Given the description of an element on the screen output the (x, y) to click on. 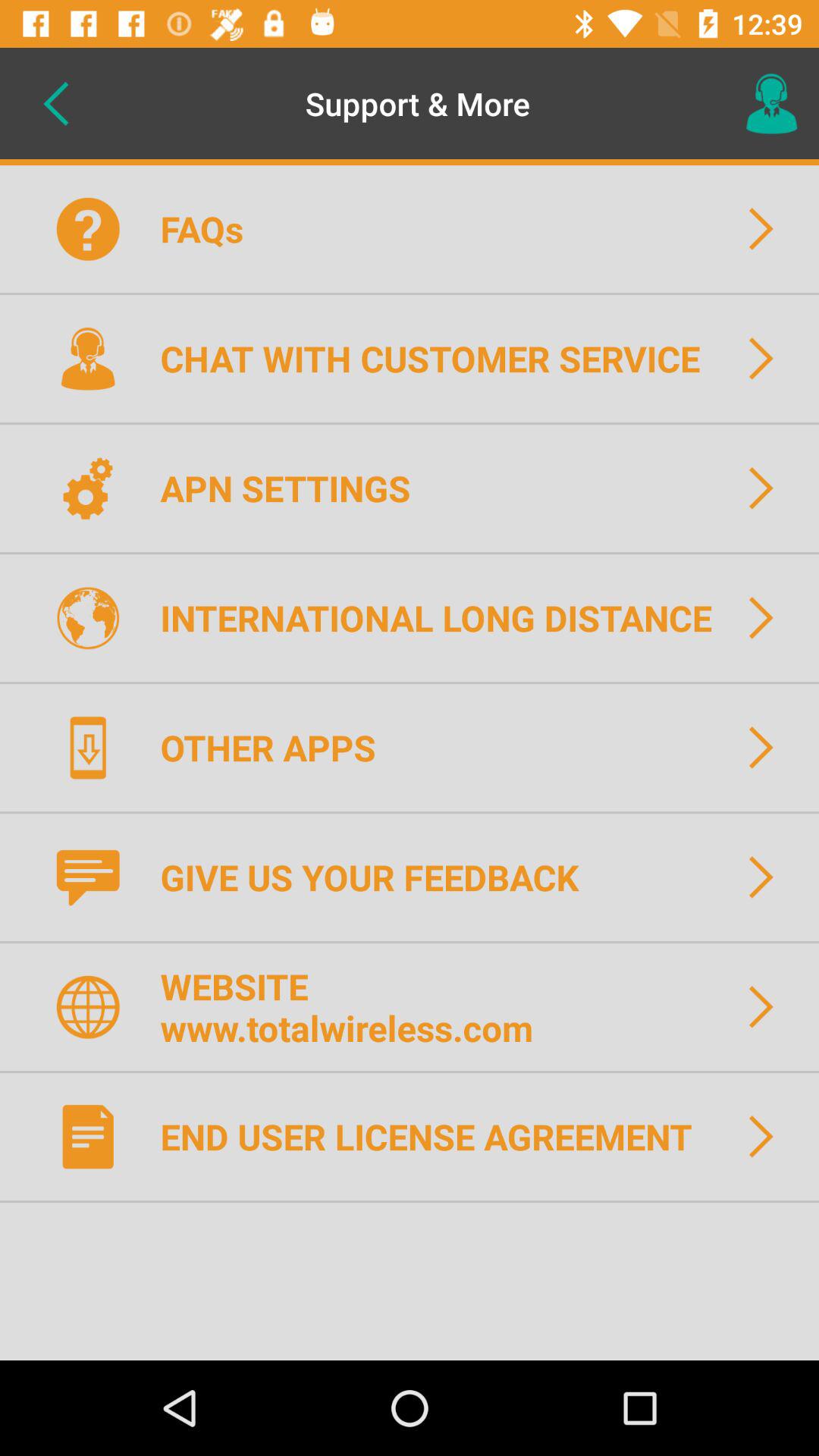
scroll to the faqs (211, 228)
